Given the description of an element on the screen output the (x, y) to click on. 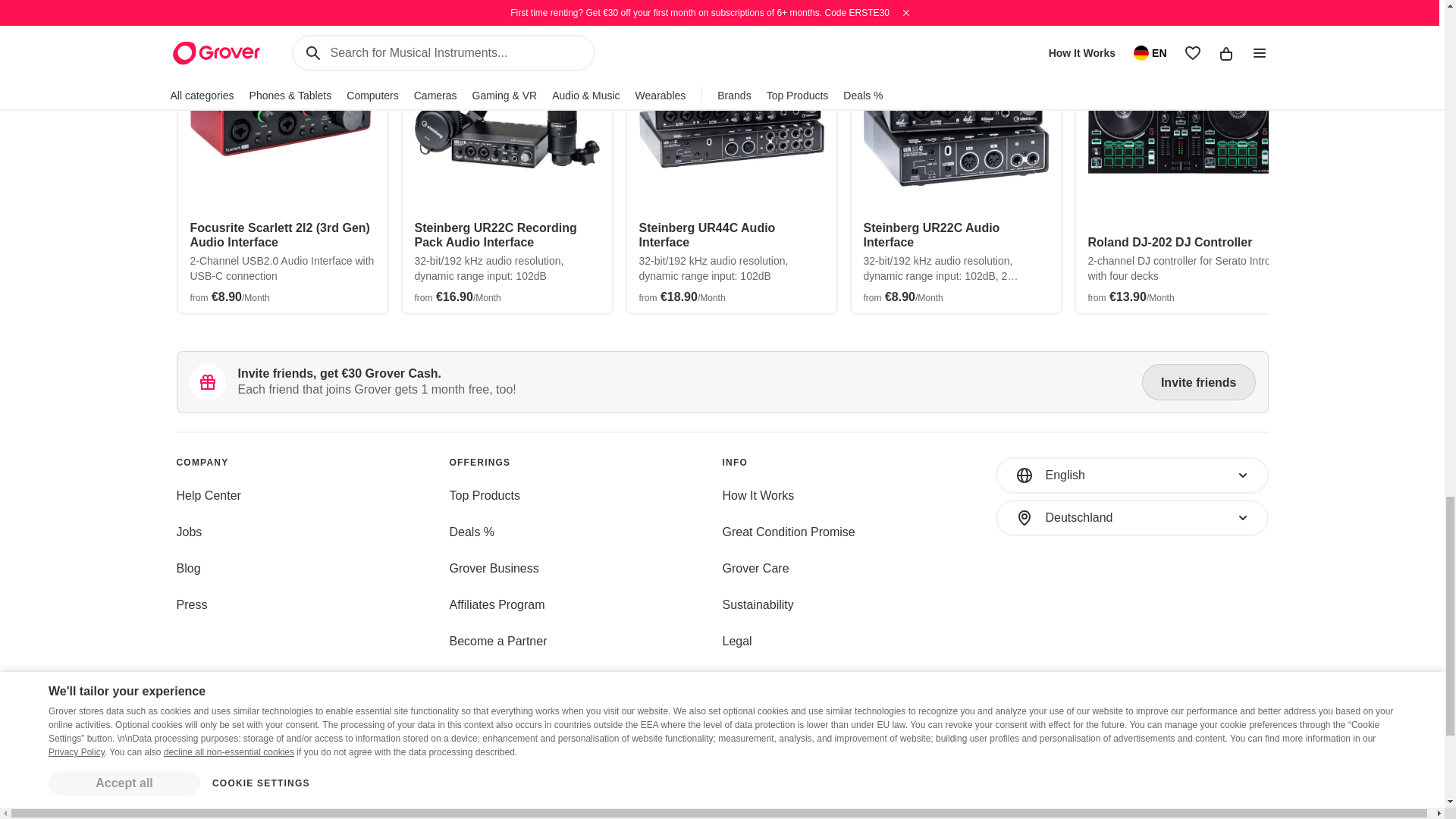
Roland DJ-202 DJ Controller (1179, 242)
Steinberg UR22C Recording Pack Audio Interface (505, 234)
Steinberg UR22C Audio Interface (955, 234)
Steinberg UR44C Audio Interface (731, 234)
